Given the description of an element on the screen output the (x, y) to click on. 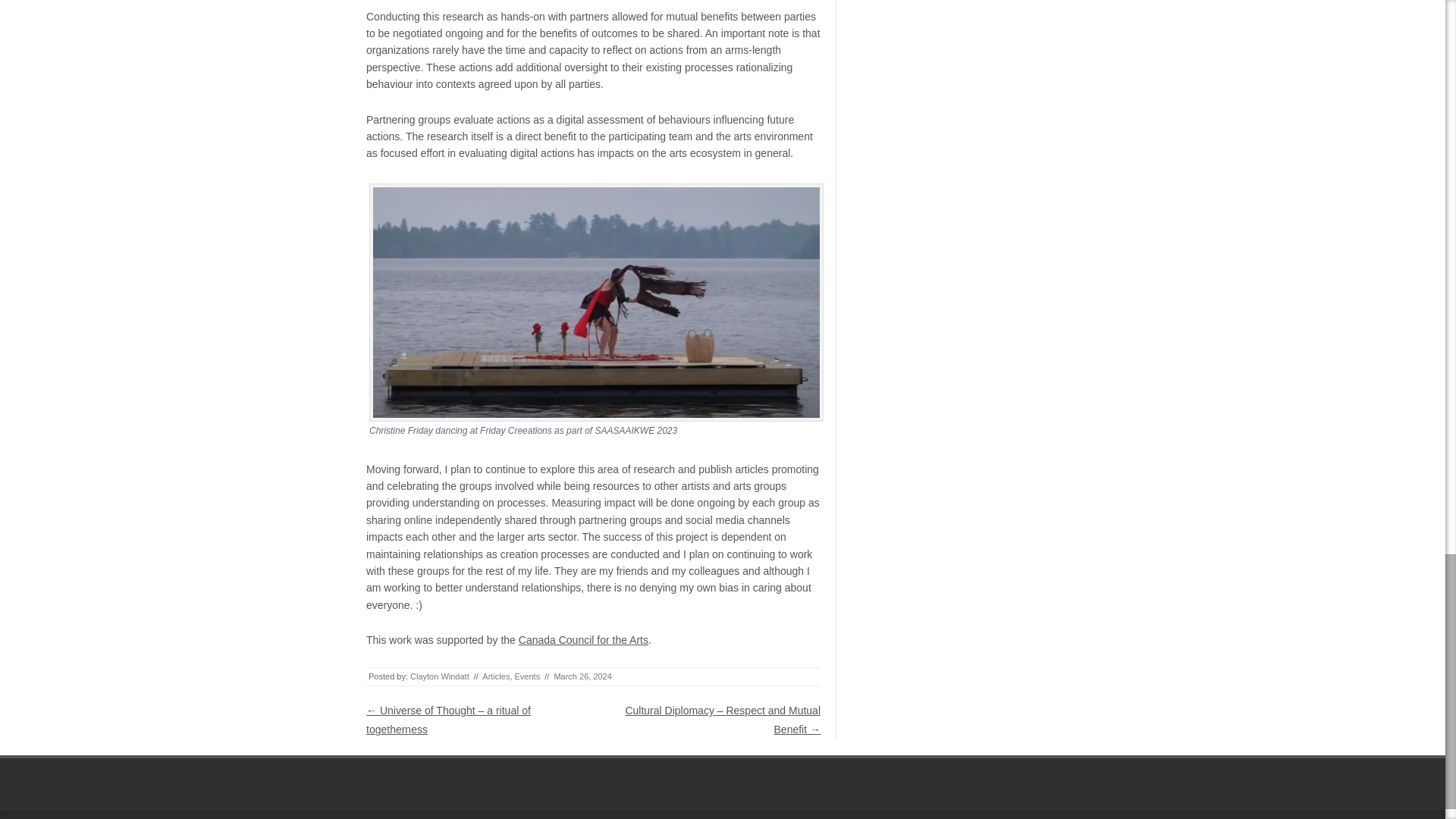
March 26, 2024 (582, 675)
Canada Council for the Arts (582, 639)
Events (527, 675)
Articles (495, 675)
View all posts by Clayton Windatt (439, 675)
11:44 am (582, 675)
Clayton Windatt (439, 675)
